Given the description of an element on the screen output the (x, y) to click on. 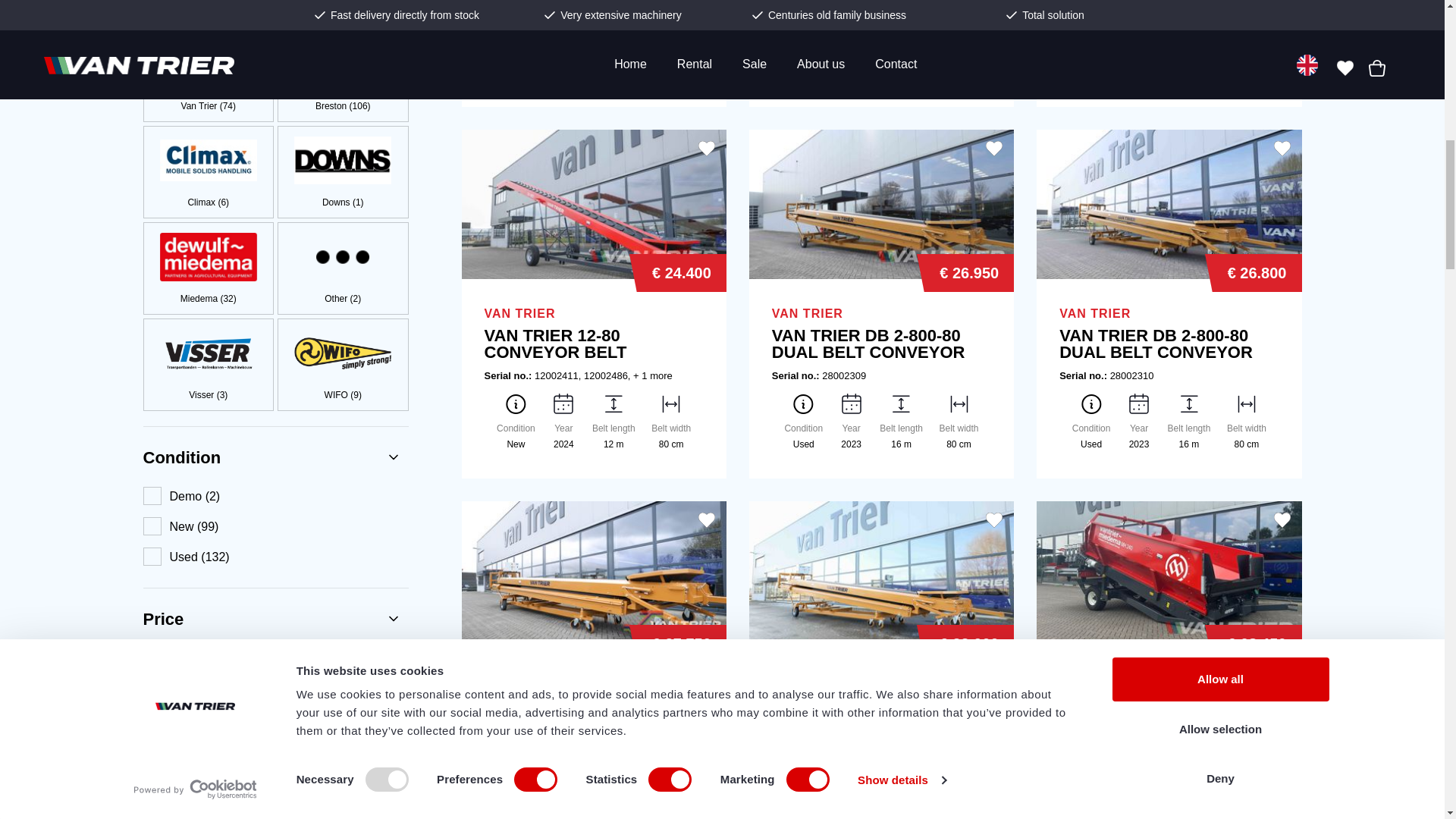
Go (166, 756)
2950 (205, 707)
343750 (341, 707)
